Given the description of an element on the screen output the (x, y) to click on. 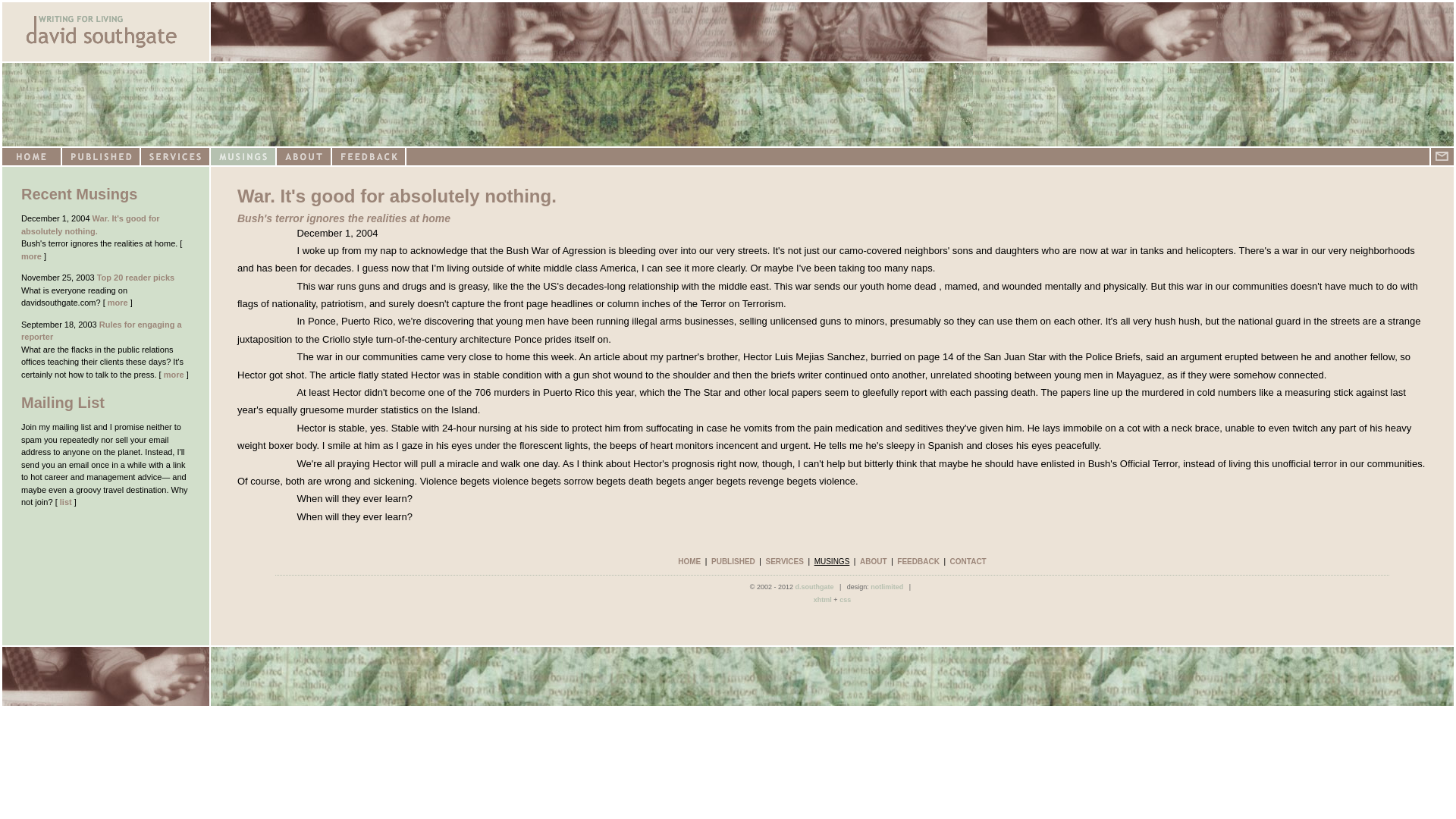
read this current david southgate editorial. (90, 224)
CONTACT (968, 561)
xhtml (822, 599)
FEEDBACK (917, 561)
read this current david southgate editorial. (135, 276)
david southgate writes for living. (832, 31)
david southgate: writing for living. (727, 104)
ABOUT (873, 561)
more (117, 302)
list (65, 501)
